Given the description of an element on the screen output the (x, y) to click on. 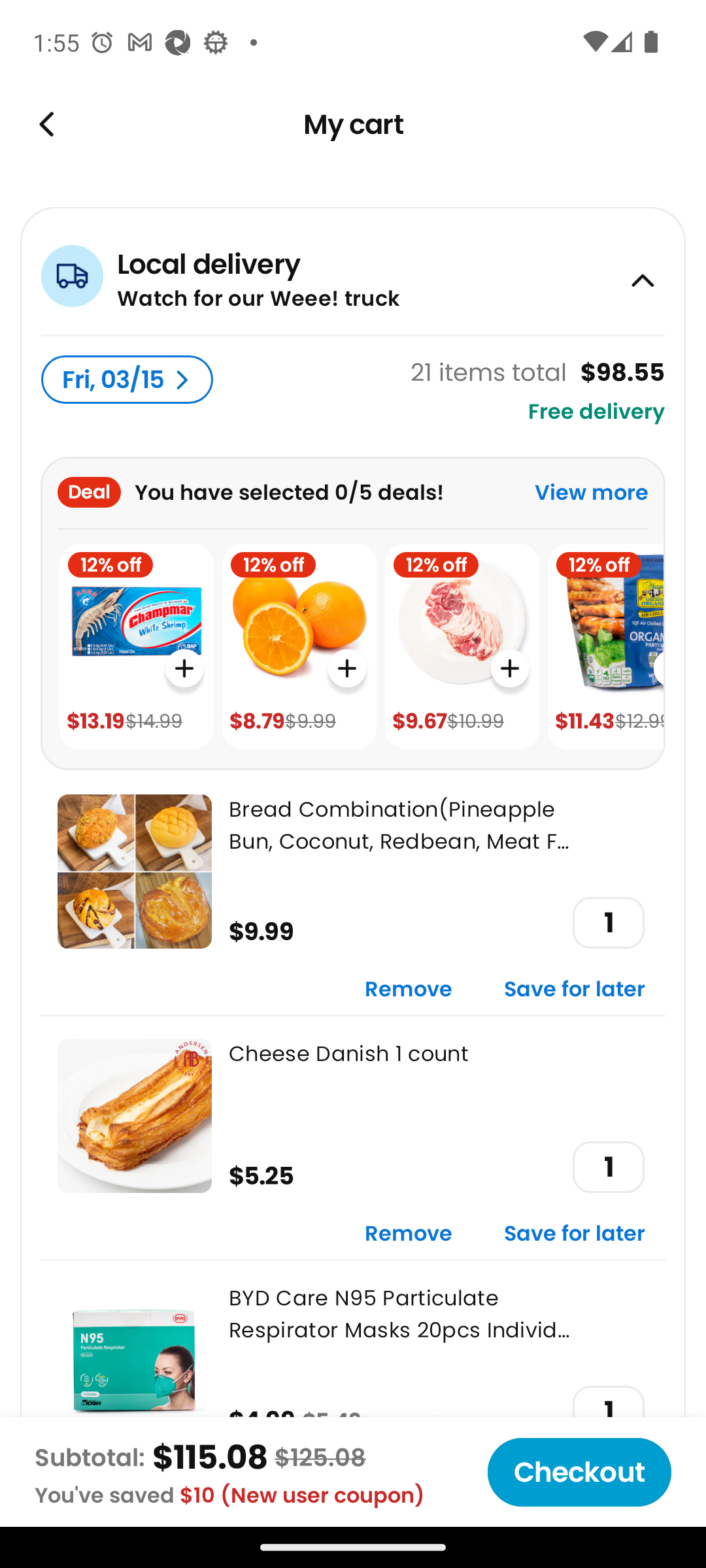
Local delivery Watch for our Weee! truck (352, 269)
Fri, 03/15 (126, 379)
12% off $13.19 $14.99 (136, 646)
12% off $8.79 $9.99 (299, 646)
12% off $9.67 $10.99 (461, 646)
12% off $11.43 $12.99 (605, 646)
1 (608, 922)
Remove (408, 989)
Save for later (574, 989)
1 (608, 1167)
Remove (408, 1234)
Save for later (574, 1234)
Checkout (579, 1471)
